Given the description of an element on the screen output the (x, y) to click on. 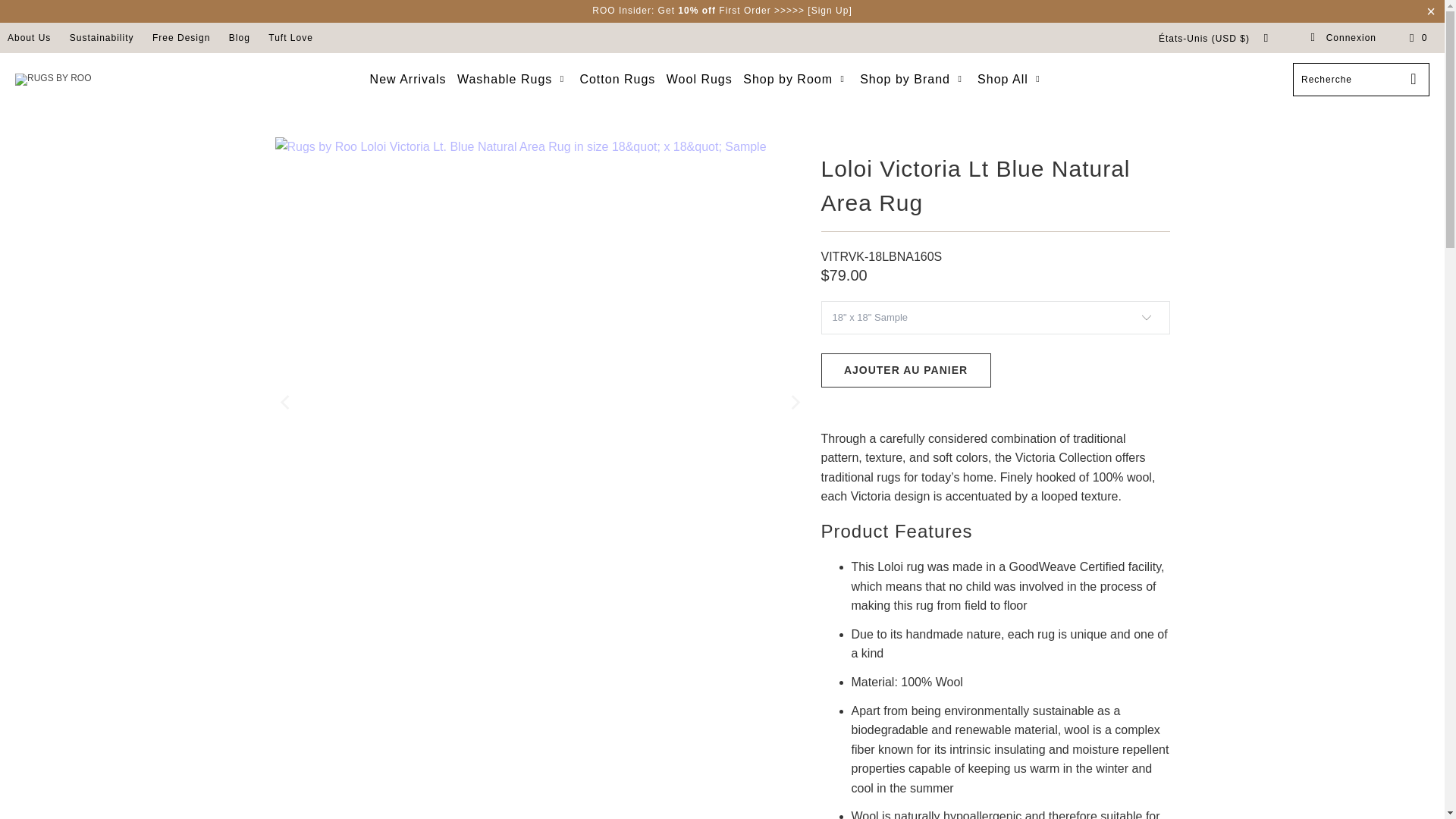
Rugs by Roo (52, 79)
Mon compte  (1343, 37)
